Given the description of an element on the screen output the (x, y) to click on. 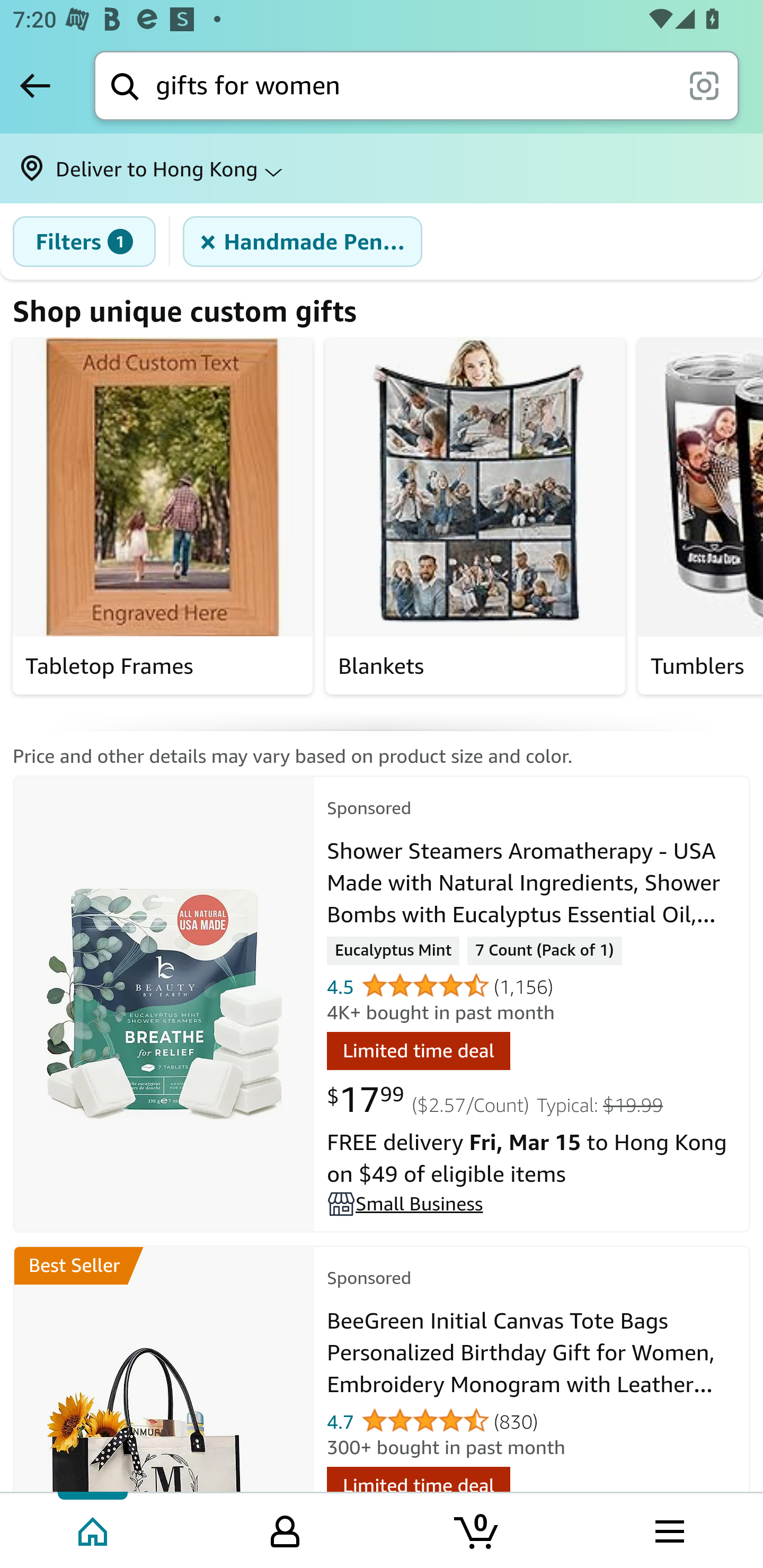
Back (35, 85)
Search Search gifts for women scan it (416, 85)
scan it (704, 85)
Deliver to Hong Kong ⌵ (381, 168)
Filters 1 (83, 241)
Limited time deal (417, 1053)
Limited time deal (417, 1487)
Home Tab 1 of 4 (94, 1529)
Your Amazon.com Tab 2 of 4 (285, 1529)
Cart 0 item Tab 3 of 4 0 (477, 1529)
Browse menu Tab 4 of 4 (668, 1529)
